Given the description of an element on the screen output the (x, y) to click on. 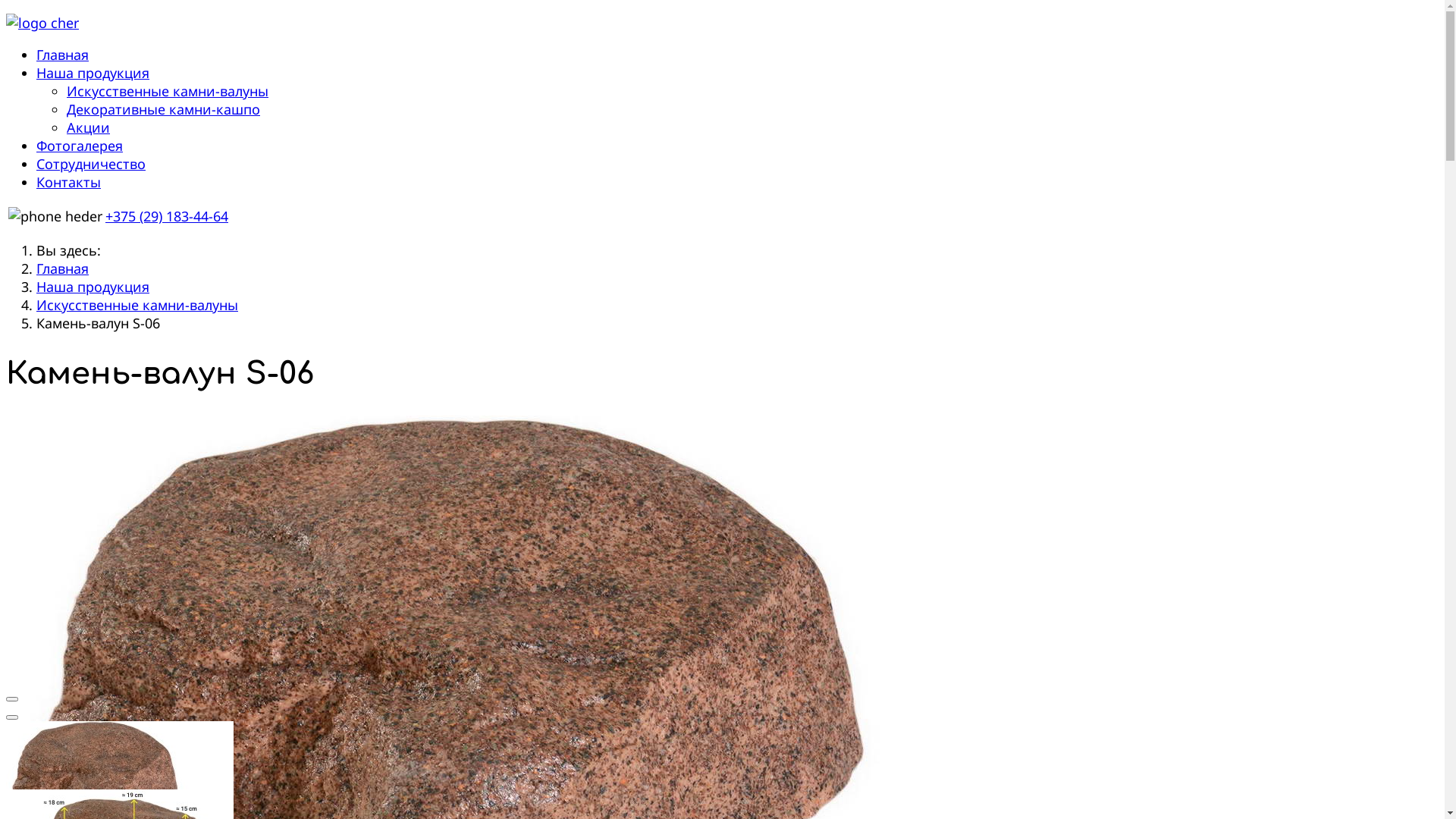
+375 (29) 183-44-64 Element type: text (166, 216)
